Given the description of an element on the screen output the (x, y) to click on. 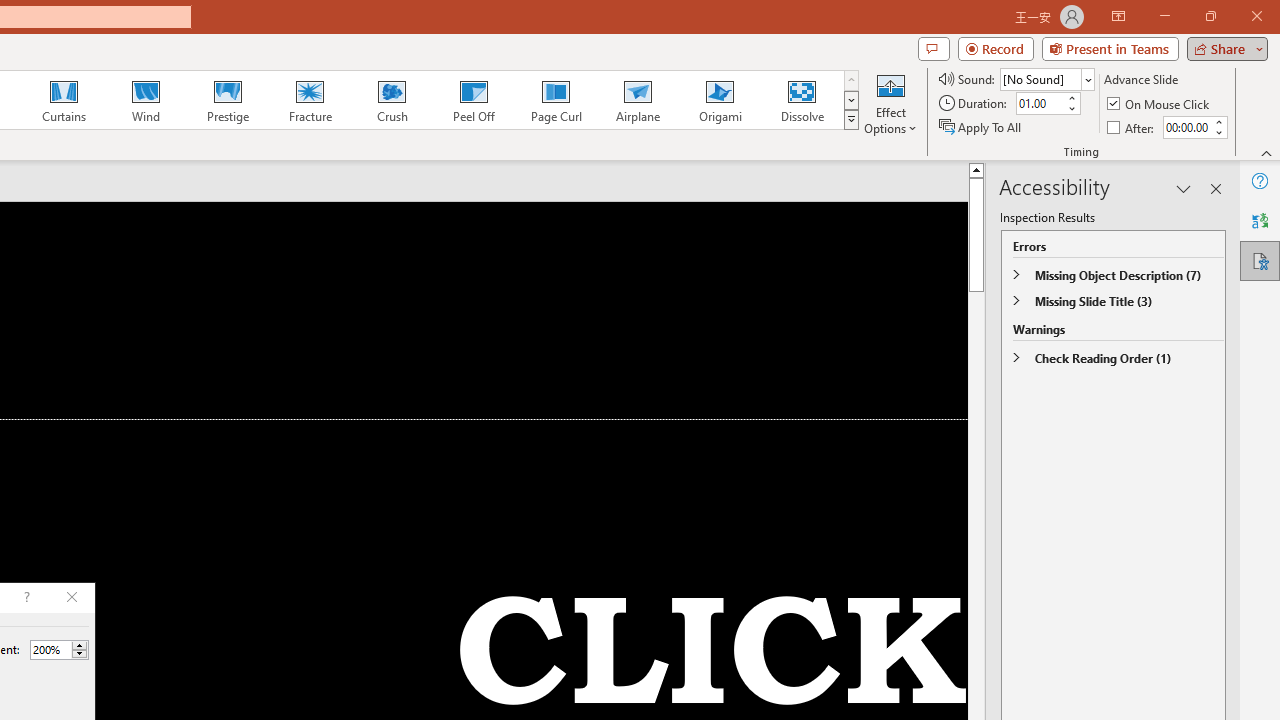
After (1131, 126)
Airplane (637, 100)
Dissolve (802, 100)
Sound (1046, 78)
On Mouse Click (1159, 103)
